Given the description of an element on the screen output the (x, y) to click on. 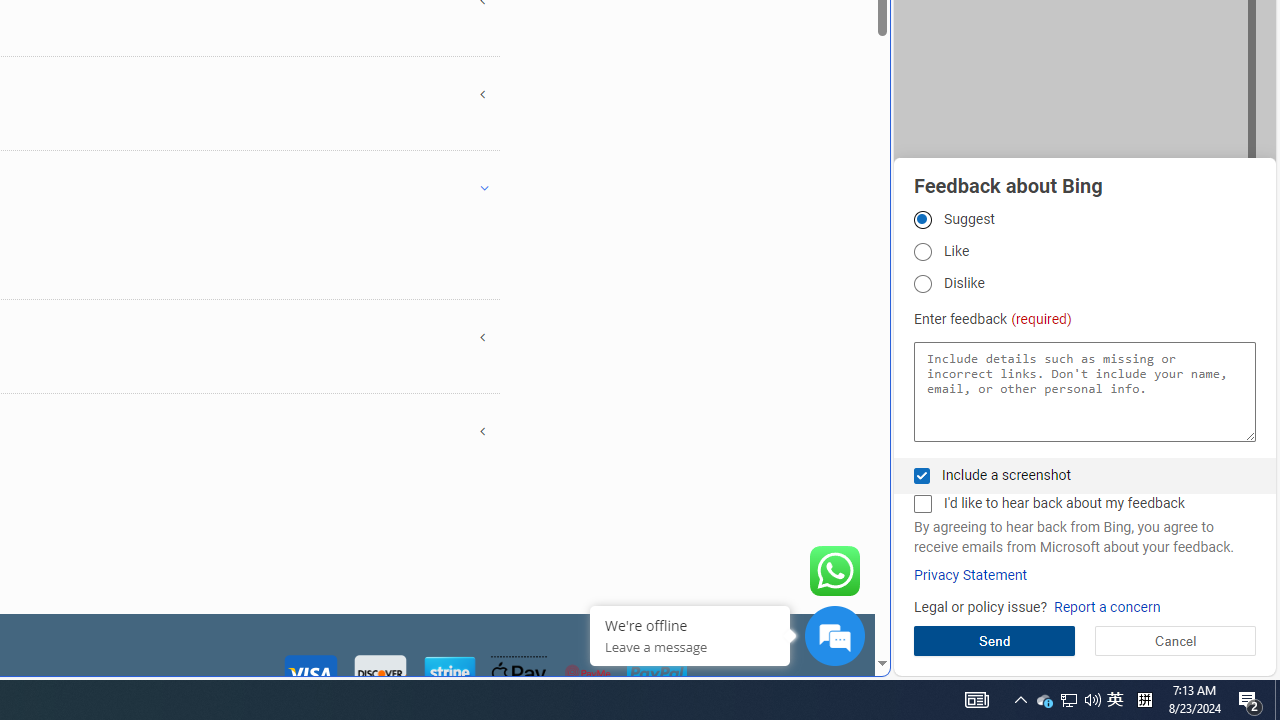
Cancel (1174, 640)
I'd like to hear back about my feedback (922, 503)
Report a concern (1106, 607)
Privacy Statement (970, 575)
Send (994, 640)
Include a screenshot (921, 475)
Like (922, 251)
Suggest (922, 219)
